Given the description of an element on the screen output the (x, y) to click on. 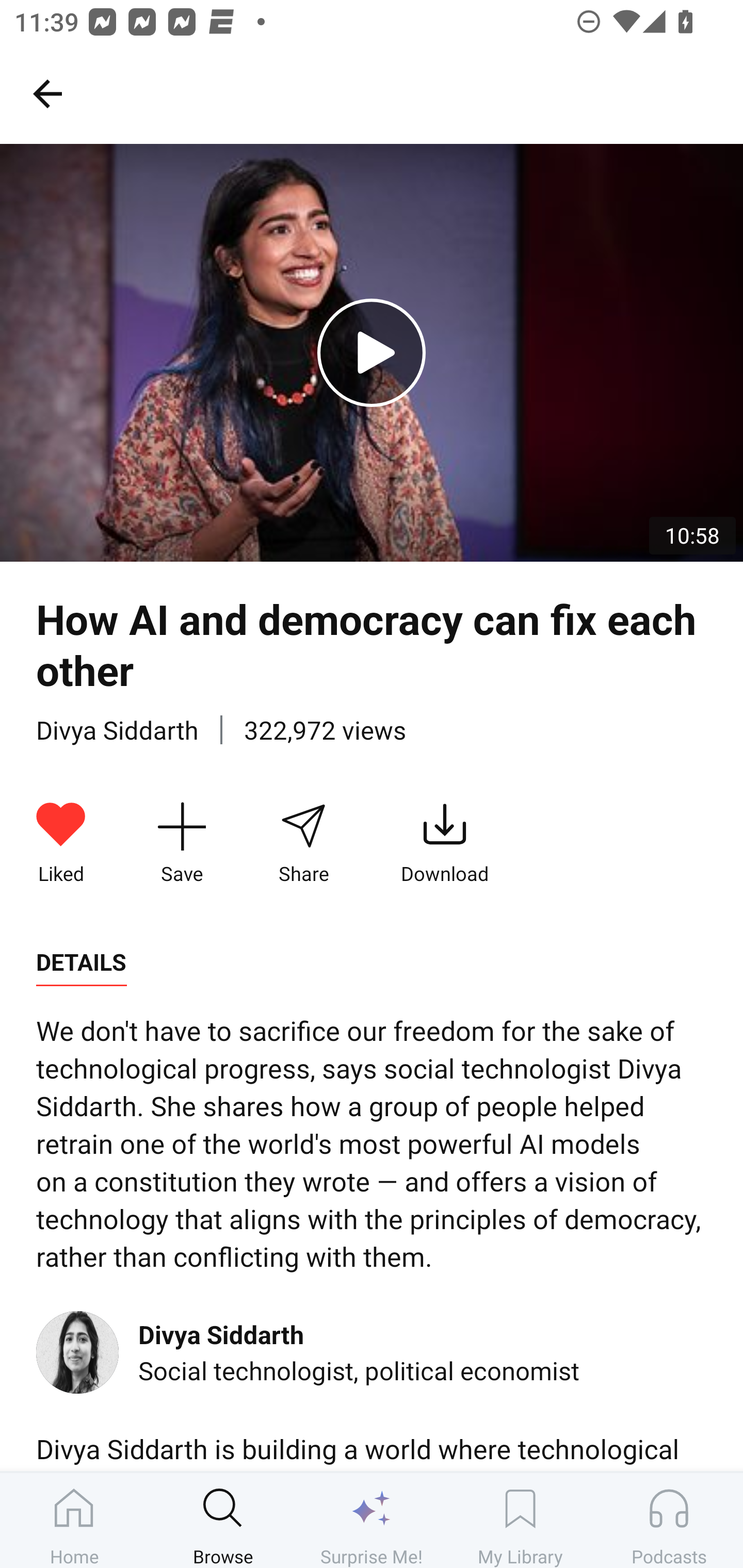
Search, back (47, 92)
Liked (60, 843)
Save (181, 843)
Share (302, 843)
Download (444, 843)
DETAILS (80, 962)
Home (74, 1520)
Browse (222, 1520)
Surprise Me! (371, 1520)
My Library (519, 1520)
Podcasts (668, 1520)
